Given the description of an element on the screen output the (x, y) to click on. 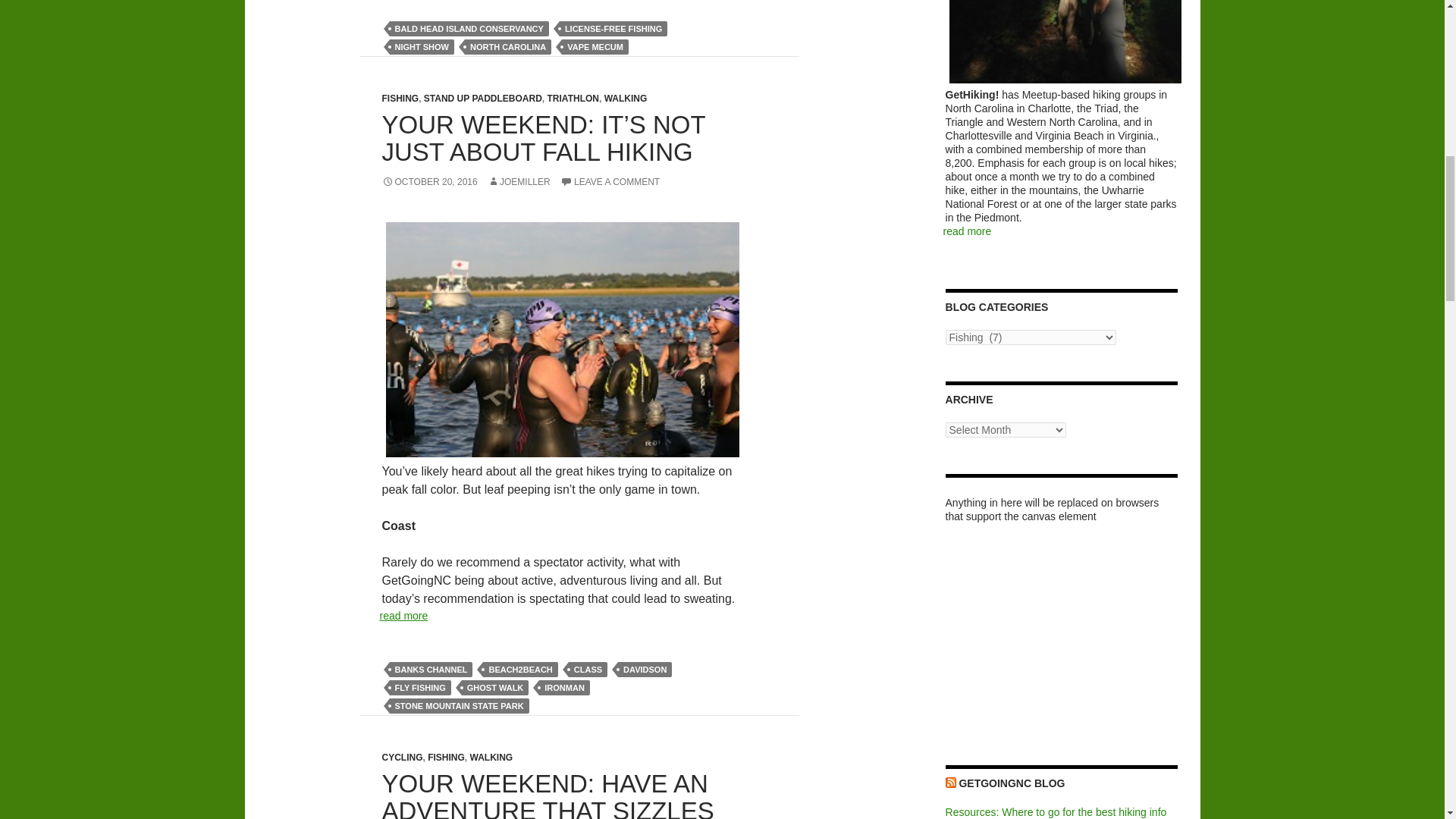
BANKS CHANNEL (431, 669)
NORTH CAROLINA (507, 46)
WALKING (625, 98)
IRONMAN (563, 687)
VAPE MECUM (595, 46)
CLASS (588, 669)
JOEMILLER (518, 181)
GHOST WALK (495, 687)
BEACH2BEACH (520, 669)
FISHING (400, 98)
LICENSE-FREE FISHING (612, 28)
OCTOBER 20, 2016 (429, 181)
LEAVE A COMMENT (609, 181)
STAND UP PADDLEBOARD (482, 98)
BALD HEAD ISLAND CONSERVANCY (469, 28)
